Given the description of an element on the screen output the (x, y) to click on. 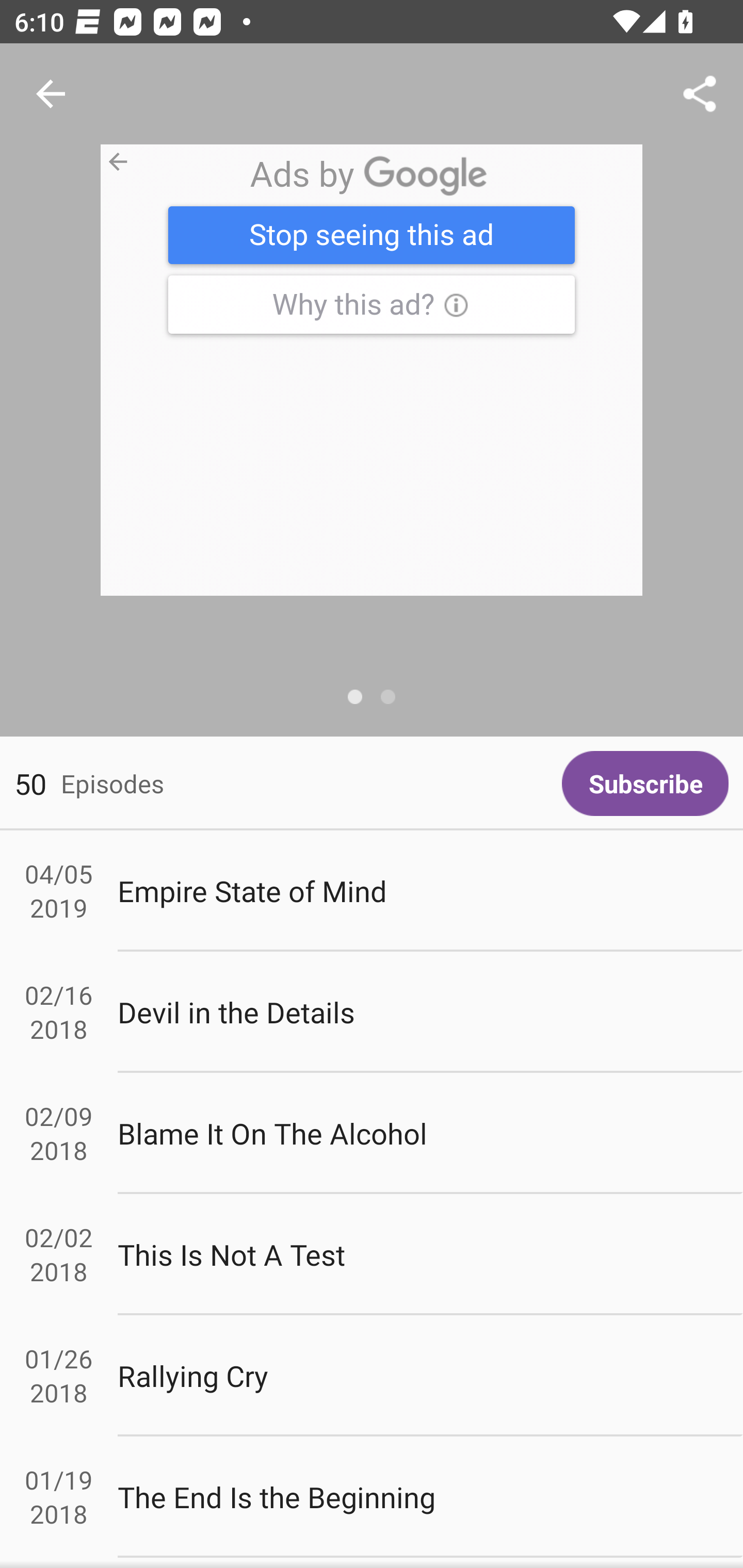
Navigate up (50, 93)
Share... (699, 93)
Subscribe (644, 783)
04/05 2019 Empire State of Mind (371, 891)
02/16 2018 Devil in the Details (371, 1011)
02/09 2018 Blame It On The Alcohol (371, 1133)
02/02 2018 This Is Not A Test (371, 1254)
01/26 2018 Rallying Cry (371, 1375)
01/19 2018 The End Is the Beginning (371, 1496)
